Given the description of an element on the screen output the (x, y) to click on. 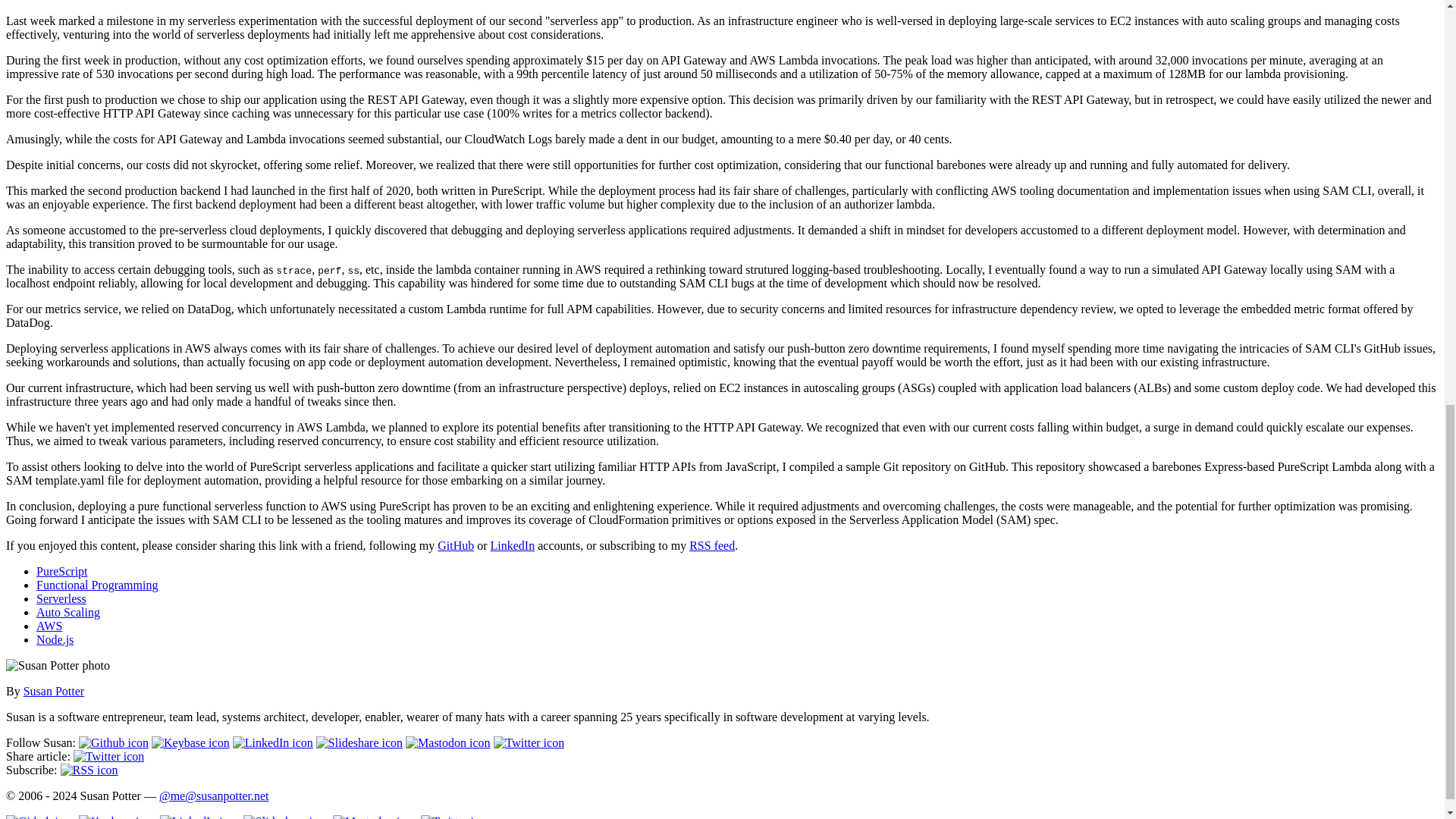
Functional Programming (96, 584)
Serverless (60, 598)
Susan's GitHub account (456, 545)
LinkedIn (512, 545)
PureScript (61, 571)
SusanPotter on Twitter (528, 742)
mbbx6spp on Slideshare (359, 742)
mbbx6spp on Keybase (190, 742)
Auto Scaling (68, 612)
mbbx6spp on Github (113, 742)
